Given the description of an element on the screen output the (x, y) to click on. 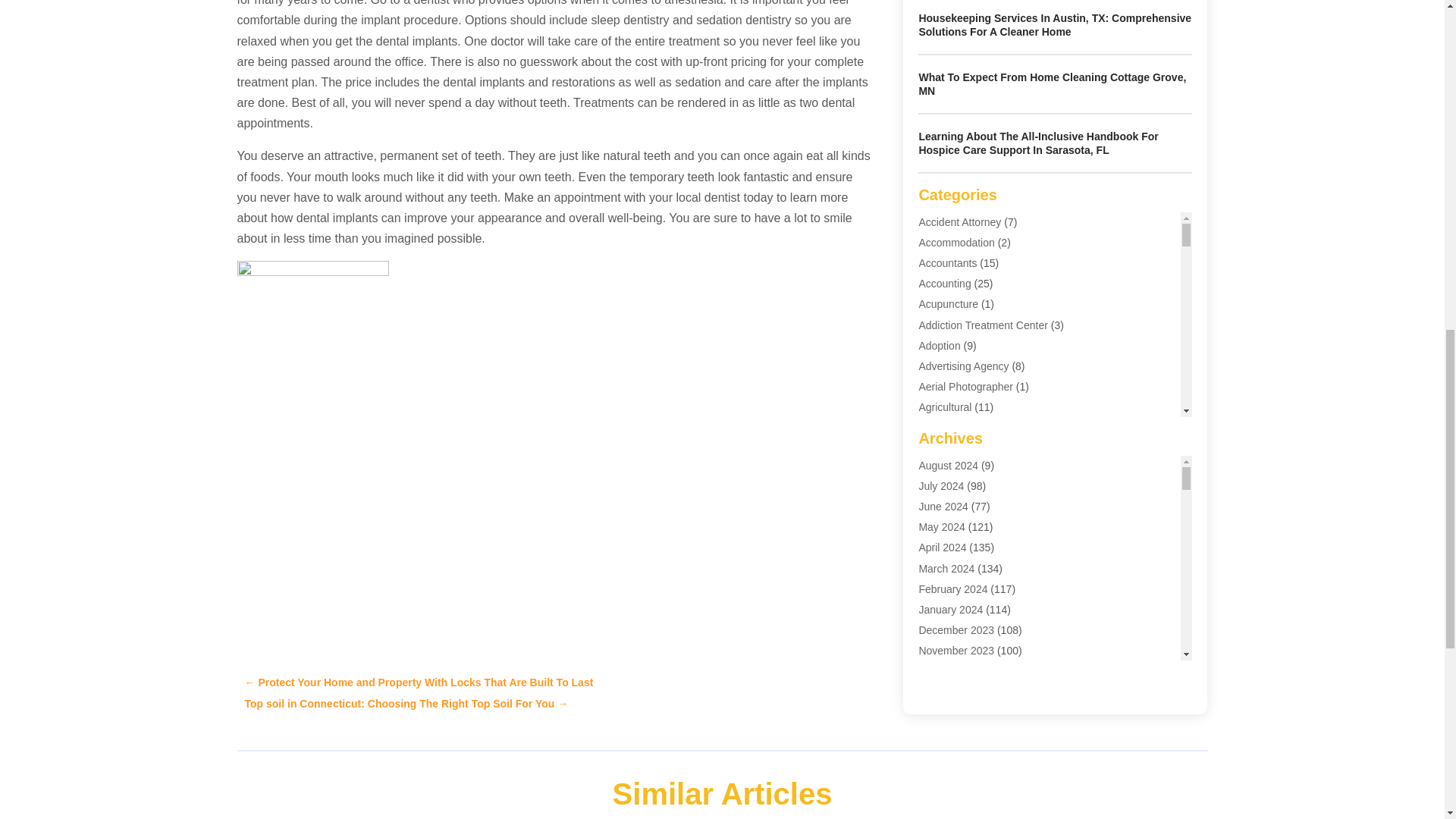
Accommodation (956, 242)
Cascades Center for Dental Health (311, 317)
Agricultural Service (964, 428)
Aerial Photographer (965, 386)
Acupuncture (948, 304)
Agricultural (944, 407)
Addiction Treatment Center (982, 325)
Advertising Agency (963, 366)
Accounting (944, 283)
Accident Attorney (959, 222)
Adoption (938, 345)
Accountants (947, 263)
What To Expect From Home Cleaning Cottage Grove, MN (1052, 84)
